Given the description of an element on the screen output the (x, y) to click on. 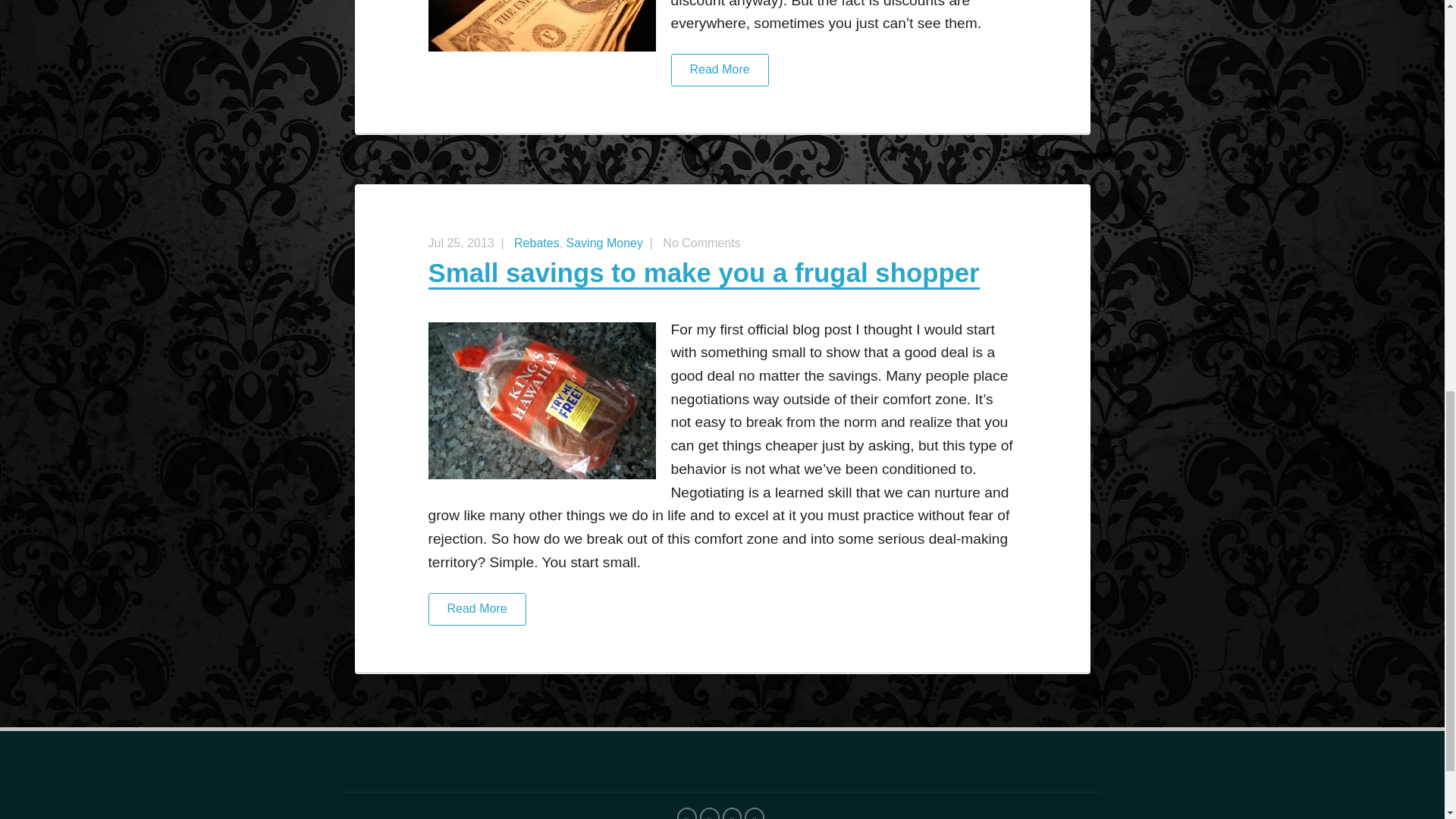
Small savings to make you a frugal shopper (703, 273)
Saving Money (604, 242)
Permalink to Small savings to make you a frugal shopper (703, 273)
Rebates (536, 242)
Read More (722, 77)
Read More (722, 616)
